Given the description of an element on the screen output the (x, y) to click on. 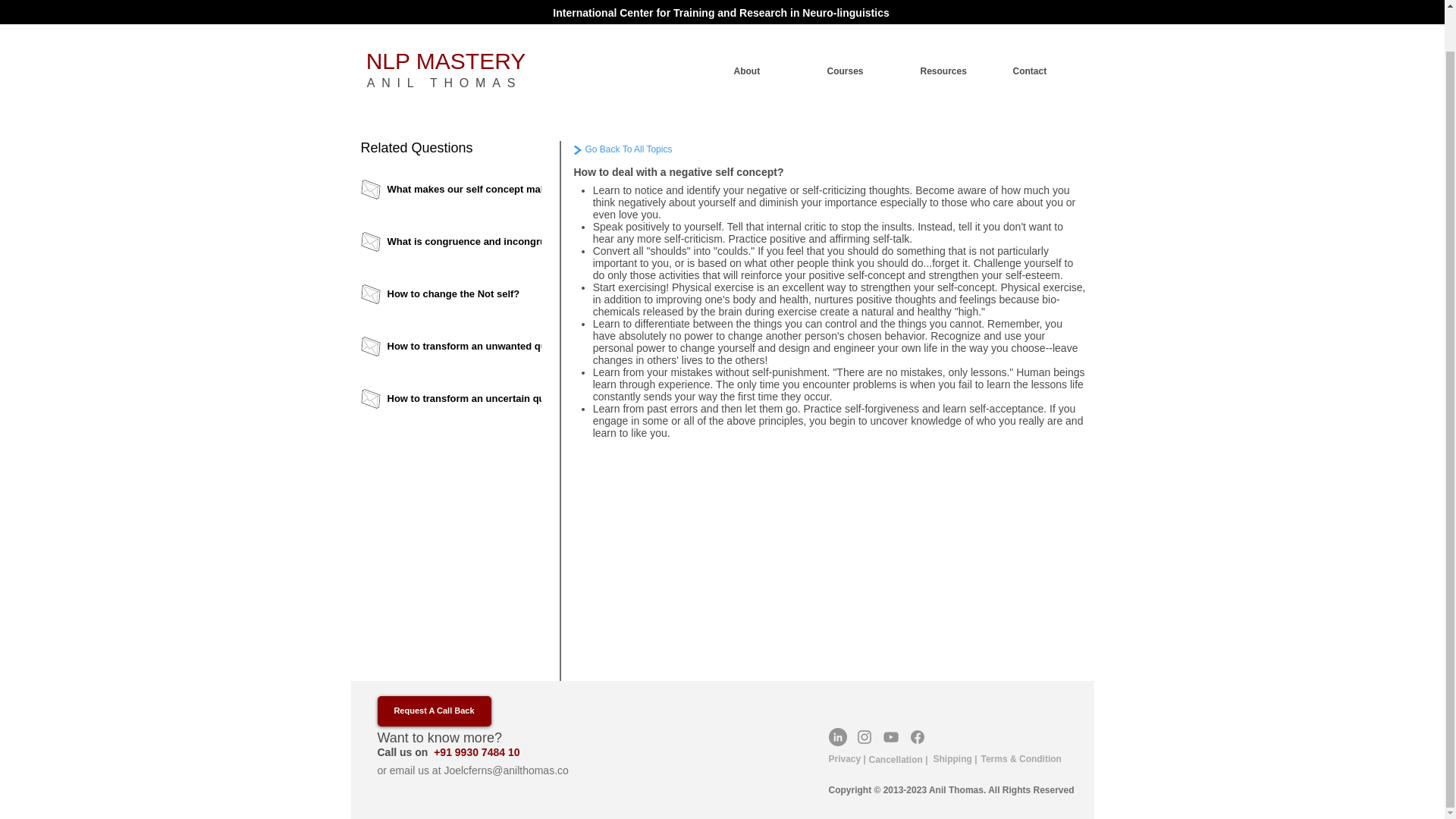
What is congruence and incongruence? (543, 242)
How to transform an unwanted quality of the self concept? (543, 346)
How to transform an uncertain quality of the self concept? (543, 398)
How to change the Not self? (543, 294)
ANIL THOMAS (443, 39)
NLP MASTERY (445, 17)
Go Back To All Topics (663, 149)
Contact (1047, 27)
Request A Call Back (434, 711)
What makes our self concept malleable? (543, 189)
Privacy (844, 758)
